Given the description of an element on the screen output the (x, y) to click on. 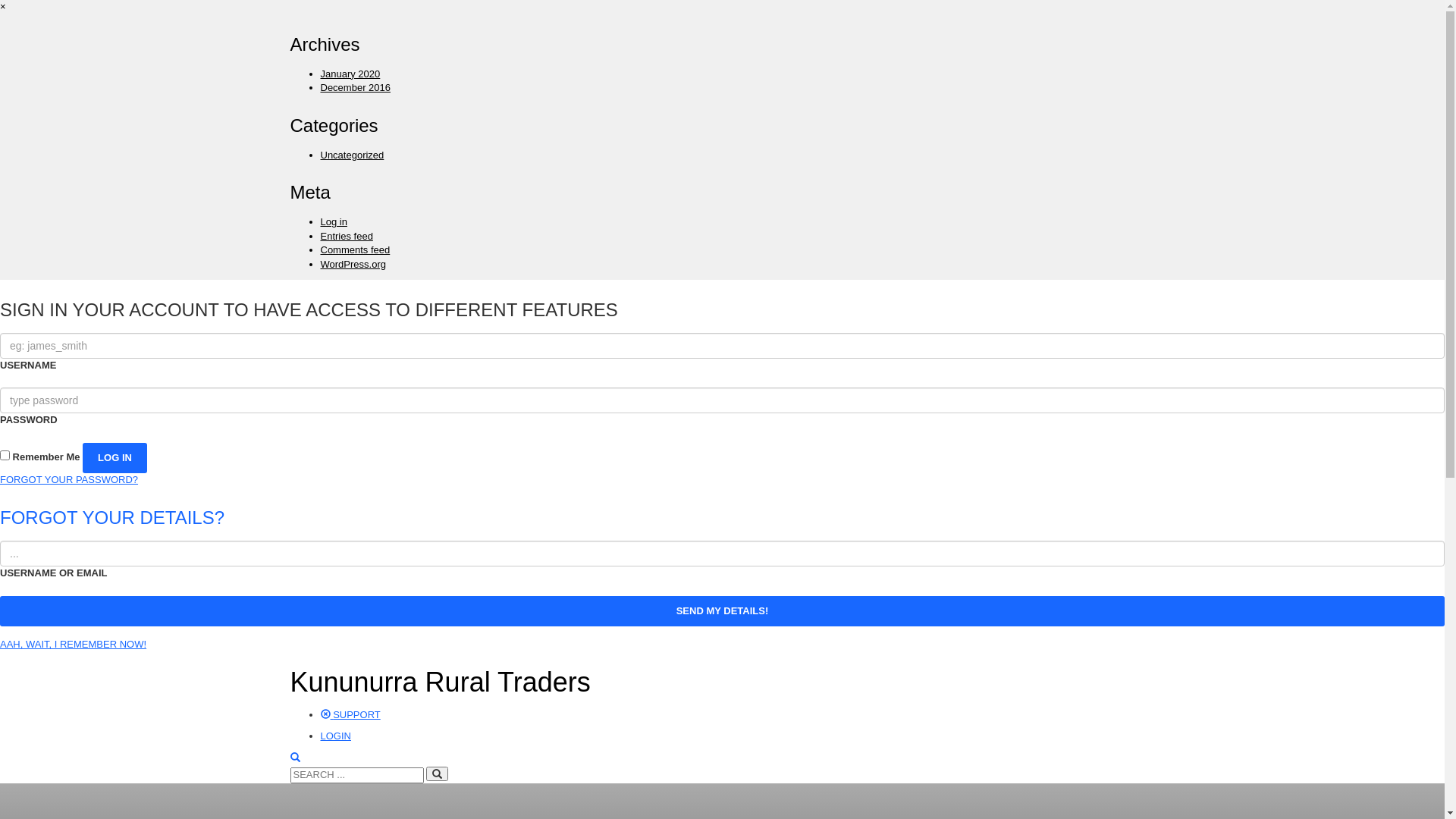
Kununurra Rural Traders Element type: text (439, 681)
LOG IN Element type: text (114, 457)
FORGOT YOUR PASSWORD? Element type: text (69, 479)
AAH, WAIT, I REMEMBER NOW! Element type: text (73, 643)
SEND MY DETAILS! Element type: text (722, 611)
WordPress.org Element type: text (352, 263)
go Element type: text (437, 773)
Uncategorized Element type: text (351, 154)
January 2020 Element type: text (349, 73)
LOGIN Element type: text (335, 735)
Entries feed Element type: text (346, 235)
December 2016 Element type: text (355, 87)
SUPPORT Element type: text (349, 714)
Comments feed Element type: text (354, 249)
Log in Element type: text (333, 221)
